Given the description of an element on the screen output the (x, y) to click on. 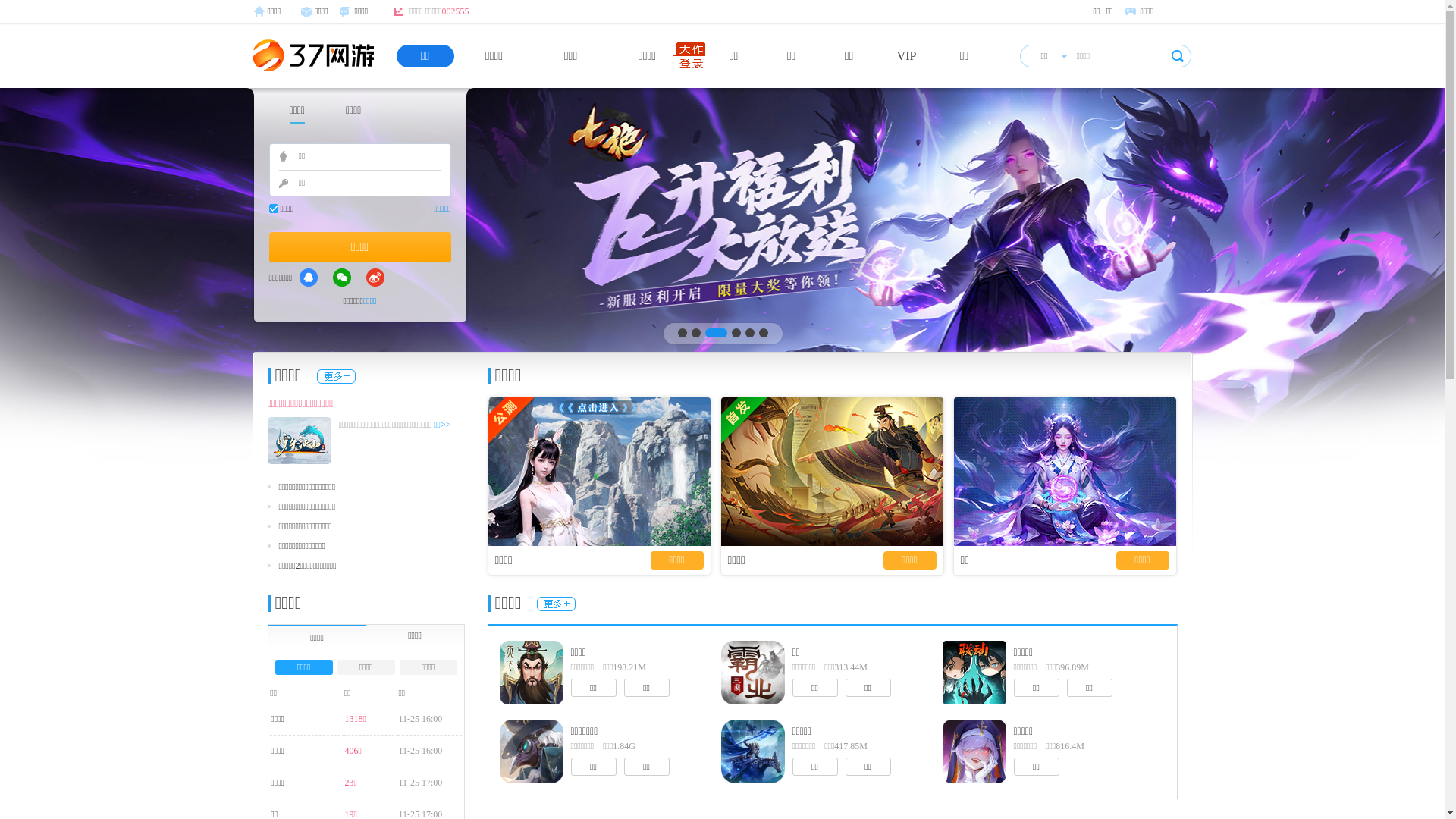
VIP Element type: text (906, 55)
QQ Element type: hover (308, 277)
